Given the description of an element on the screen output the (x, y) to click on. 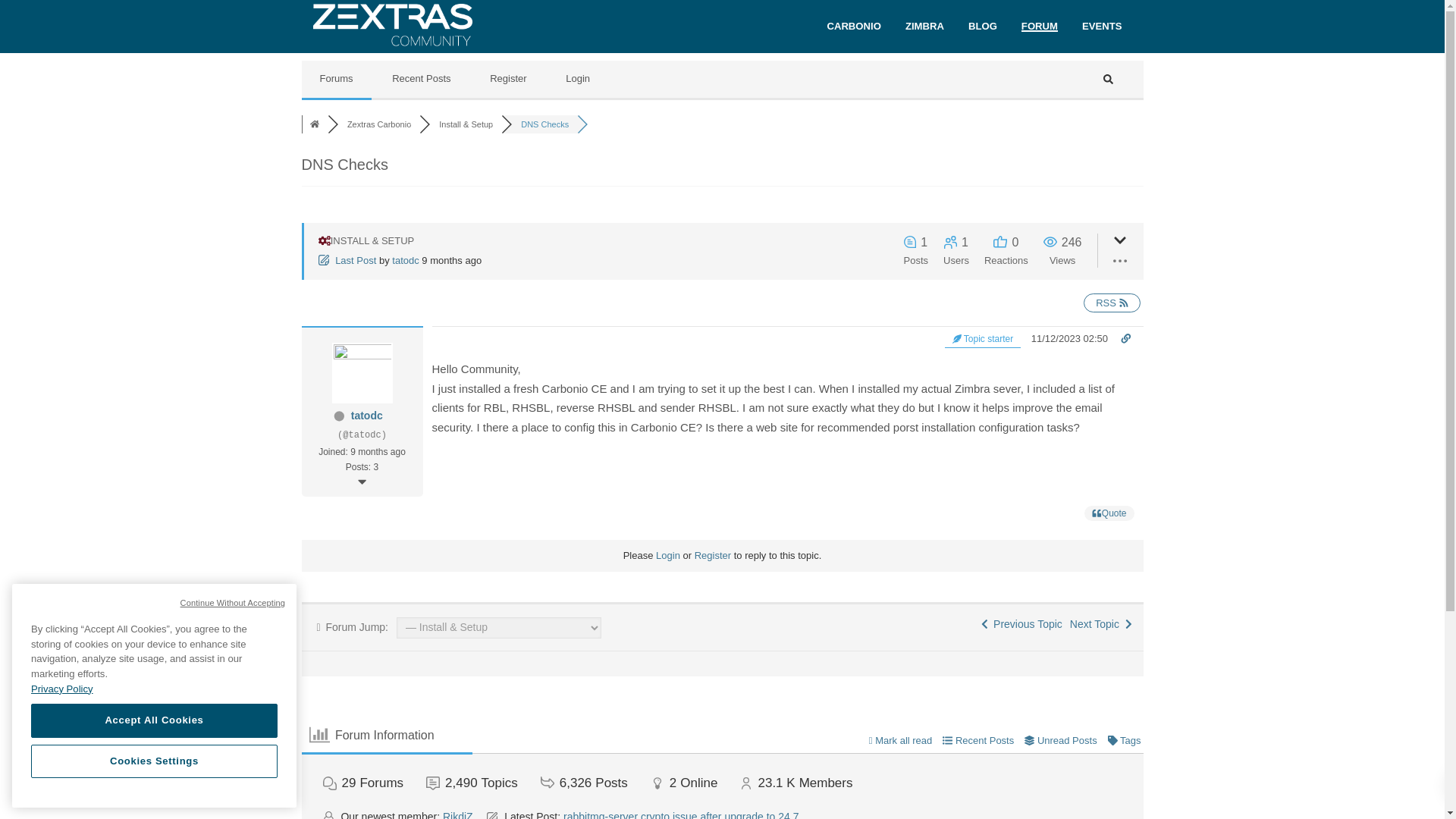
tatodc (405, 260)
EVENTS (1102, 26)
Zextras Carbonio (378, 123)
Zextras Carbonio (378, 123)
Register (507, 78)
3rd Party Integration Plugins For Carbonio CE (1101, 623)
ActiveSync not working (1021, 623)
Register (712, 555)
Login (667, 555)
Forums (313, 123)
Recent Posts (977, 740)
Tags (1124, 740)
BLOG (982, 26)
FORUM (1039, 26)
RikdiZ (457, 814)
